Given the description of an element on the screen output the (x, y) to click on. 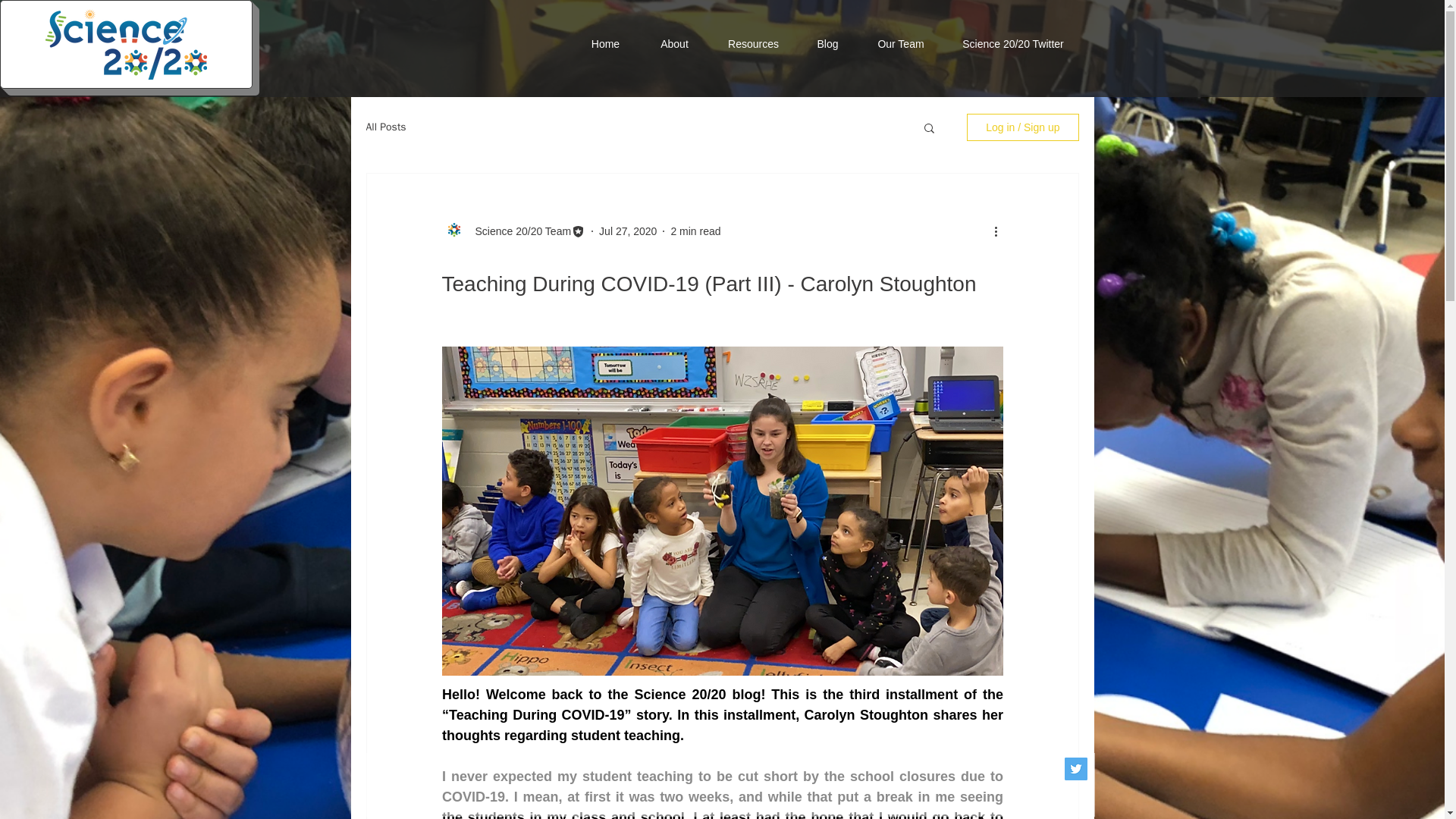
About (675, 43)
All Posts (385, 127)
Blog (828, 43)
Twitter Follow (966, 66)
Jul 27, 2020 (627, 230)
2 min read (694, 230)
Home (606, 43)
Resources (753, 43)
Our Team (901, 43)
